Given the description of an element on the screen output the (x, y) to click on. 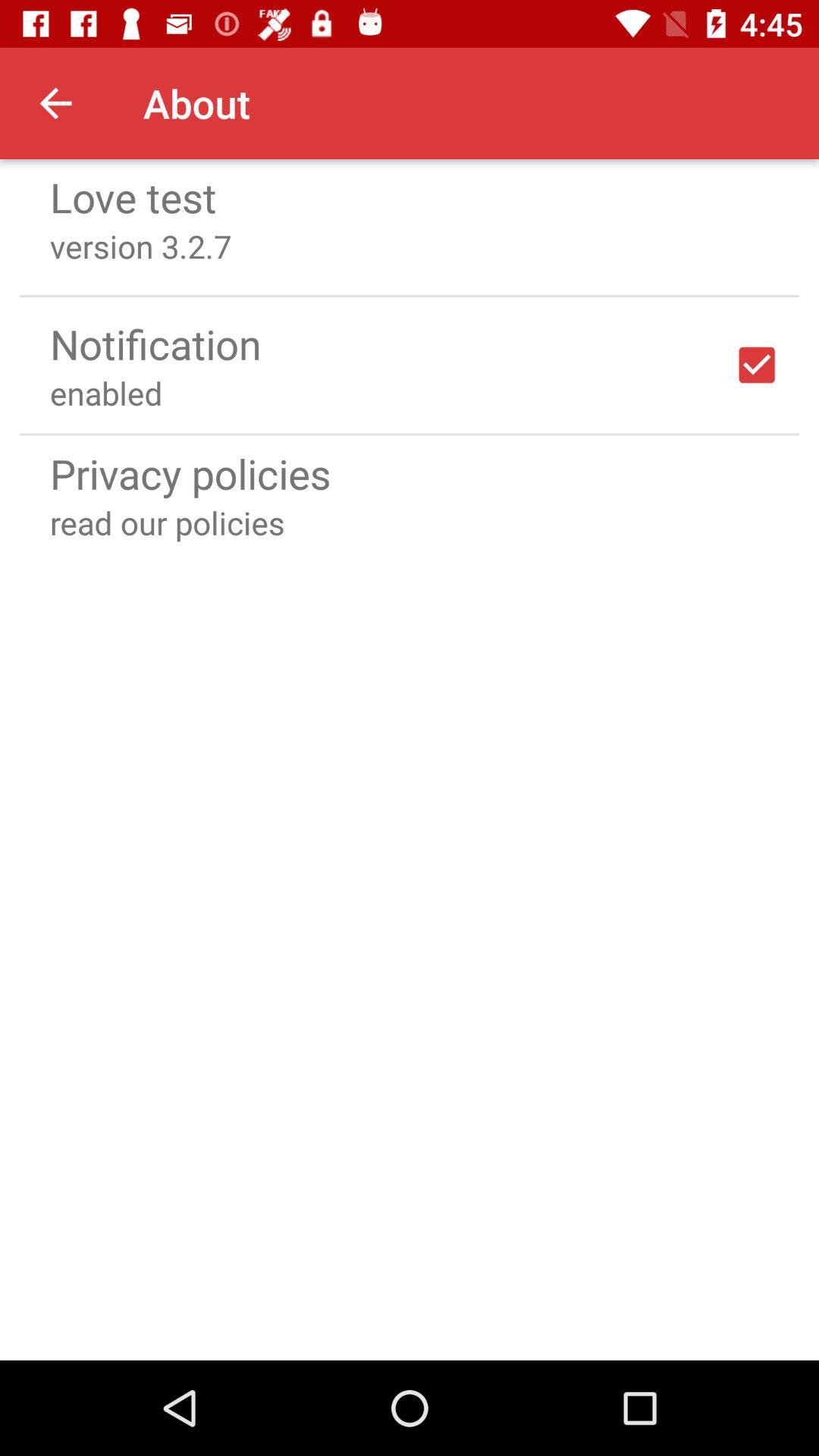
choose icon to the left of the about (55, 103)
